Given the description of an element on the screen output the (x, y) to click on. 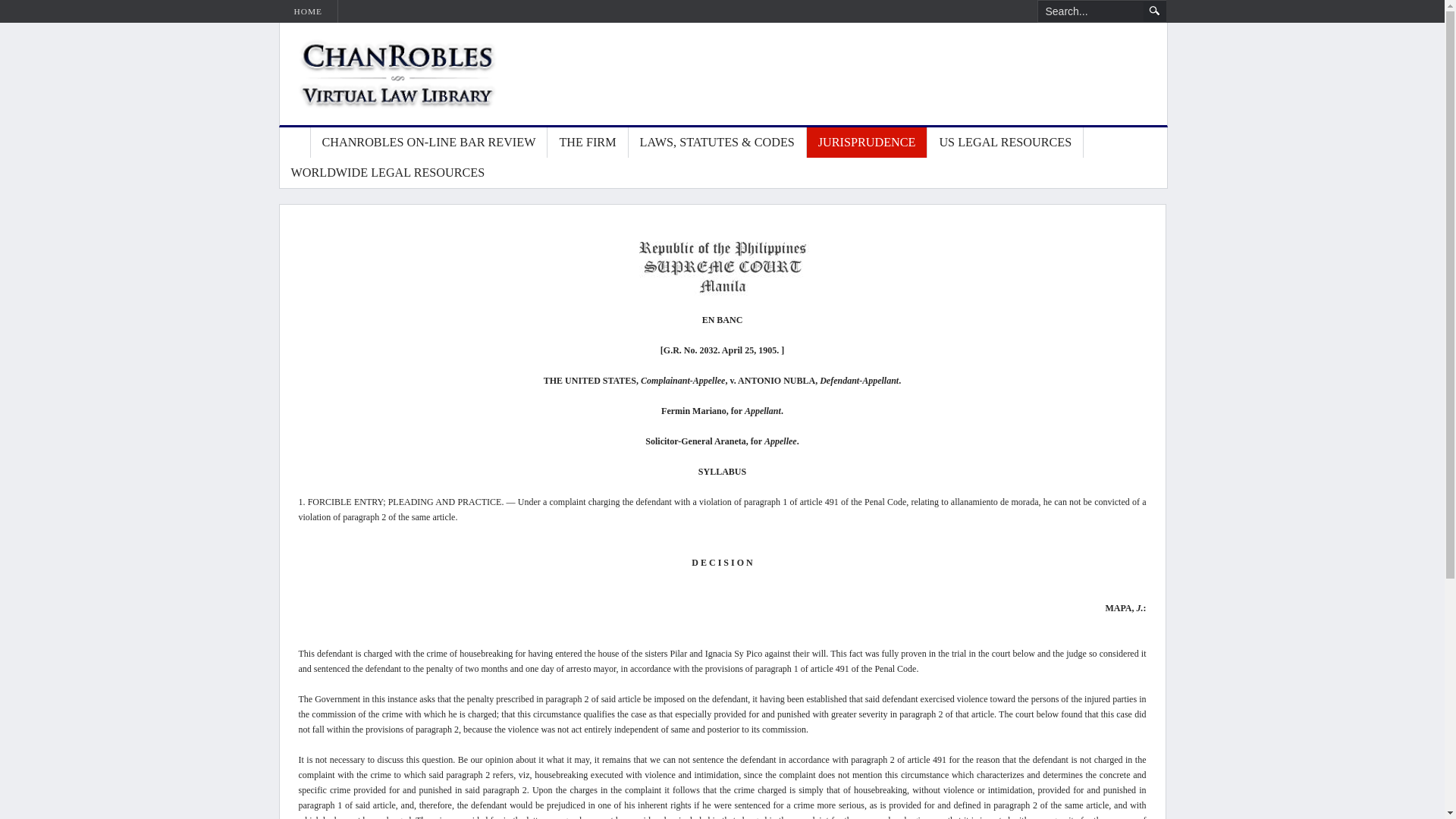
The Firm (587, 142)
WORLDWIDE LEGAL RESOURCES (387, 173)
ChanRobles On-Line Bar Review (429, 142)
HOME (308, 11)
Jurisprudence (867, 142)
Home (294, 142)
Search (1154, 11)
Home of ChanRobles Virtual Law Library (381, 73)
CHANROBLES ON-LINE BAR REVIEW (429, 142)
JURISPRUDENCE (867, 142)
THE FIRM (587, 142)
Search... (1089, 11)
US Legal Resources (1005, 142)
US LEGAL RESOURCES (1005, 142)
